Given the description of an element on the screen output the (x, y) to click on. 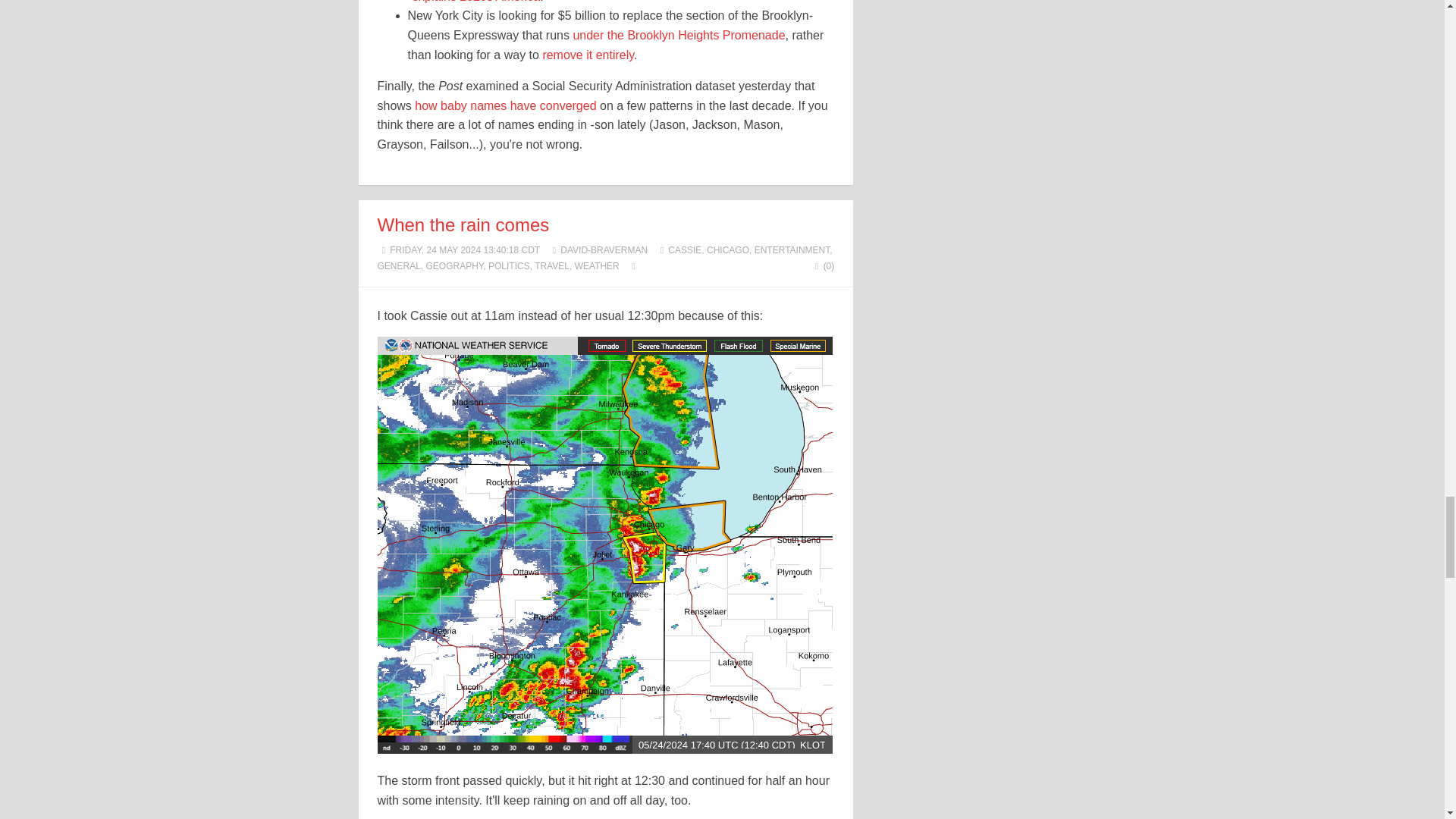
Open a map of the location where this post was written (633, 266)
